Given the description of an element on the screen output the (x, y) to click on. 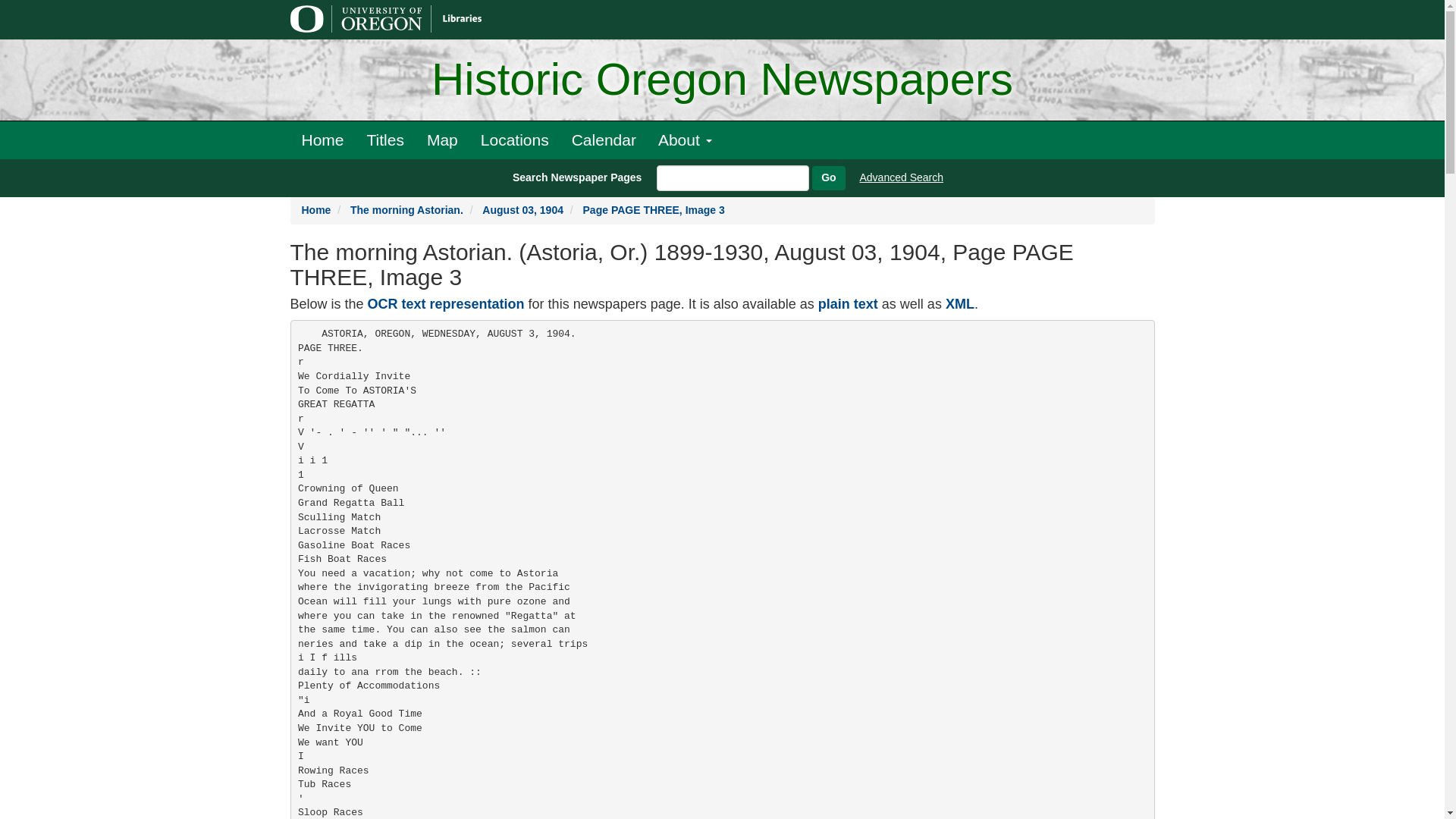
Home (322, 139)
Titles (384, 139)
Locations (514, 139)
Map (441, 139)
Advanced Search (901, 177)
About (684, 140)
plain text (847, 304)
The morning Astorian. (406, 209)
OCR text representation (446, 304)
XML (959, 304)
Calendar (603, 139)
Go (828, 178)
Page PAGE THREE, Image 3 (654, 209)
Home (316, 209)
August 03, 1904 (522, 209)
